Given the description of an element on the screen output the (x, y) to click on. 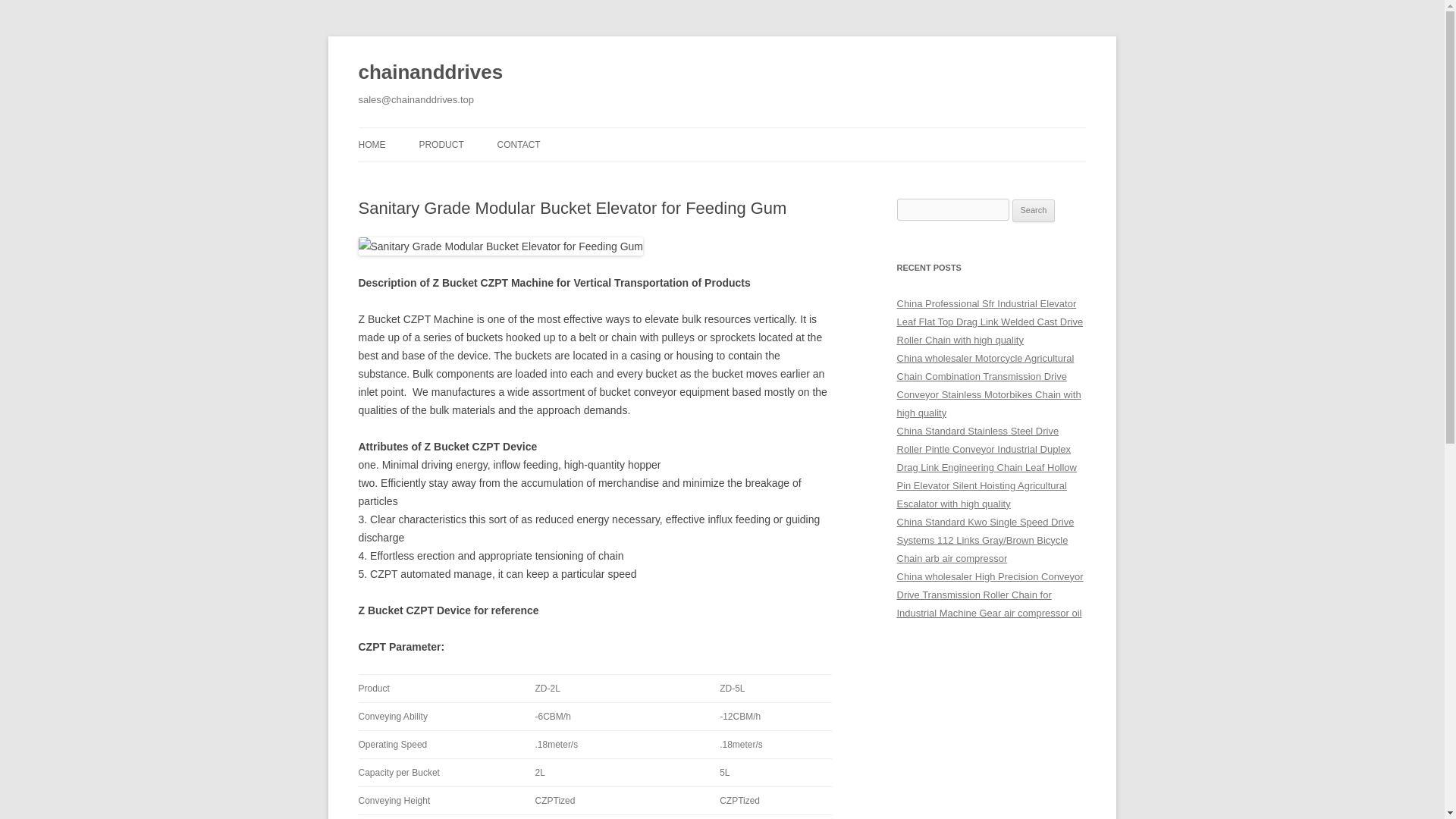
Sanitary Grade Modular Bucket Elevator for Feeding Gum (500, 246)
PRODUCT (441, 144)
Search (1033, 210)
chainanddrives (430, 72)
chainanddrives (430, 72)
